Given the description of an element on the screen output the (x, y) to click on. 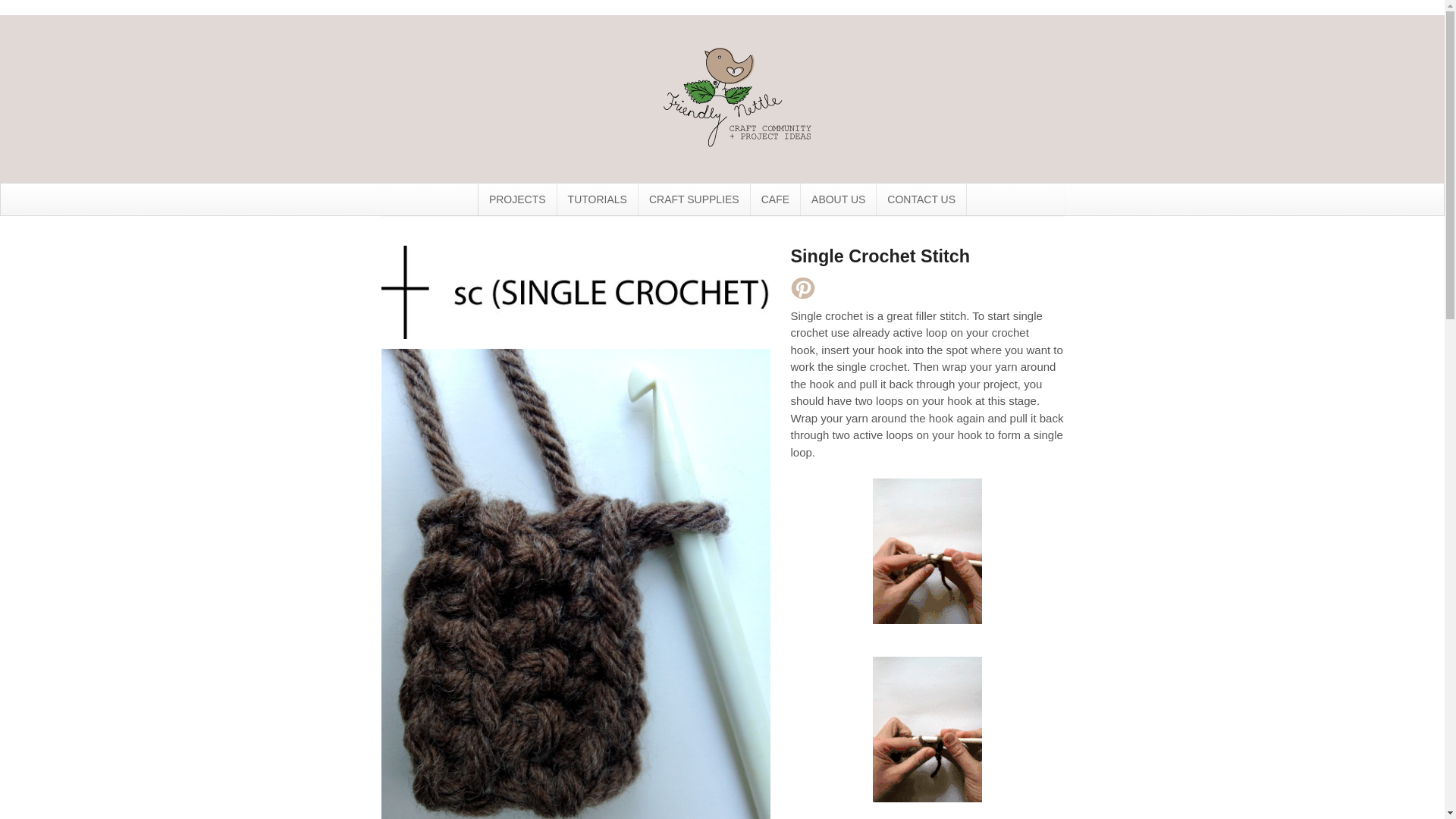
TUTORIALS (597, 199)
Pin It (801, 288)
Single crochet (575, 330)
ABOUT US (838, 199)
CONTACT US (921, 199)
CRAFT SUPPLIES (694, 199)
PROJECTS (517, 199)
CAFE (775, 199)
